Given the description of an element on the screen output the (x, y) to click on. 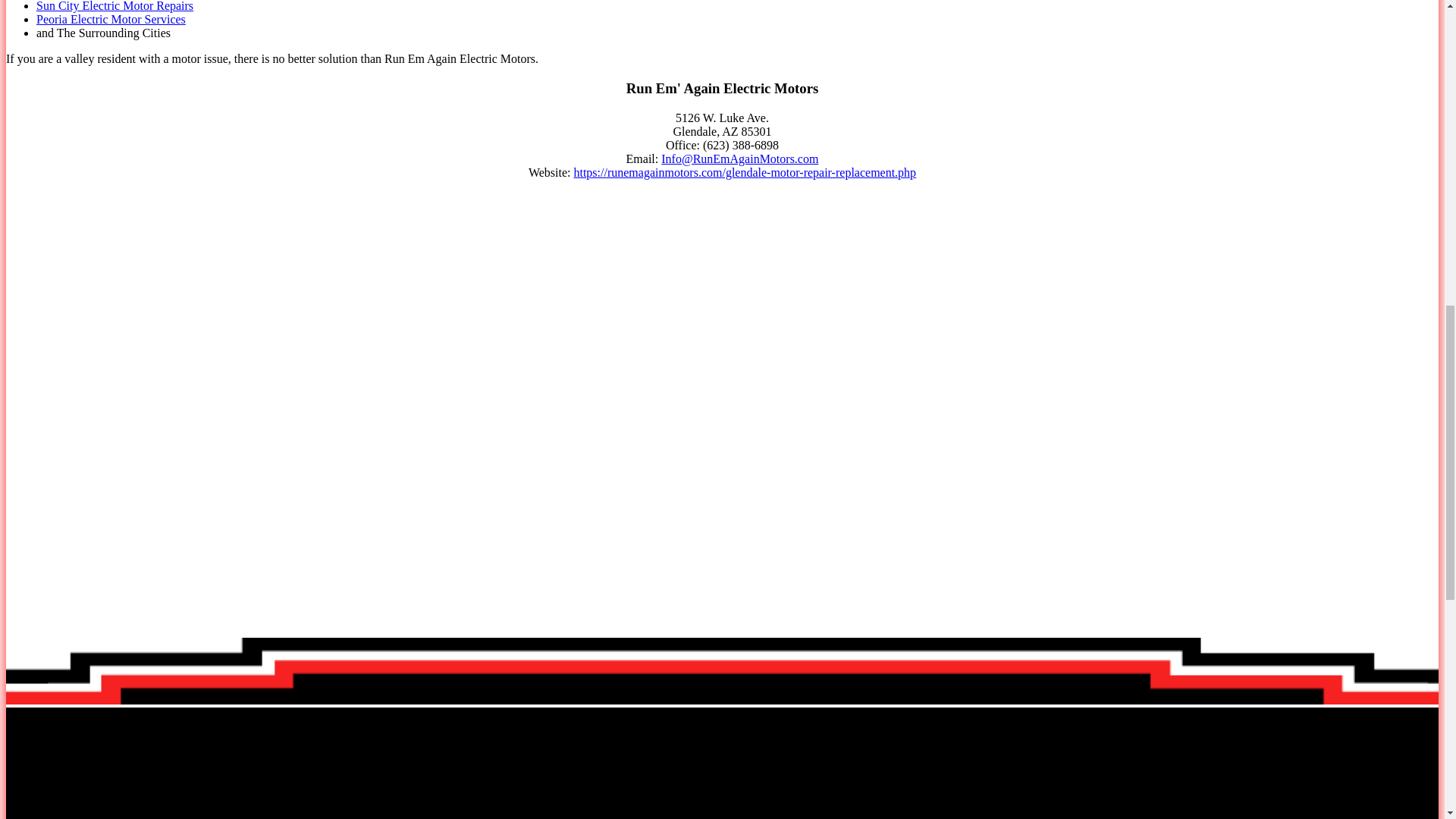
Contact Run Em Again in Glendale AZ (739, 158)
Peoria Electric Motor Services (111, 19)
Sun City Electric Motor Repairs (114, 6)
